Given the description of an element on the screen output the (x, y) to click on. 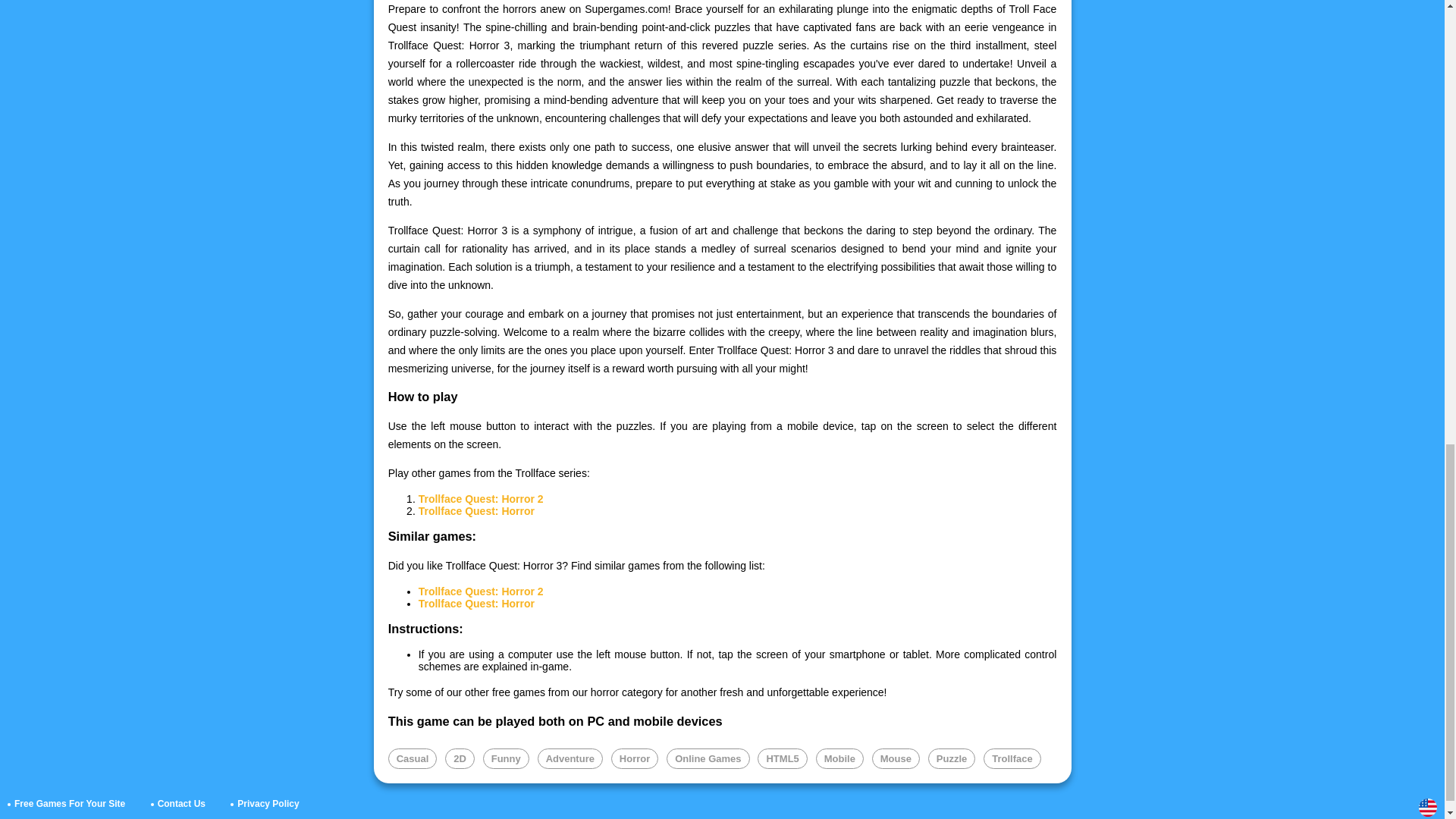
Trollface Quest: Horror 2 (481, 499)
Funny (506, 758)
Trollface Quest: Horror (476, 603)
Casual (413, 758)
Trollface Quest: Horror 2 (481, 591)
2D (459, 758)
Trollface Quest: Horror (476, 510)
